Given the description of an element on the screen output the (x, y) to click on. 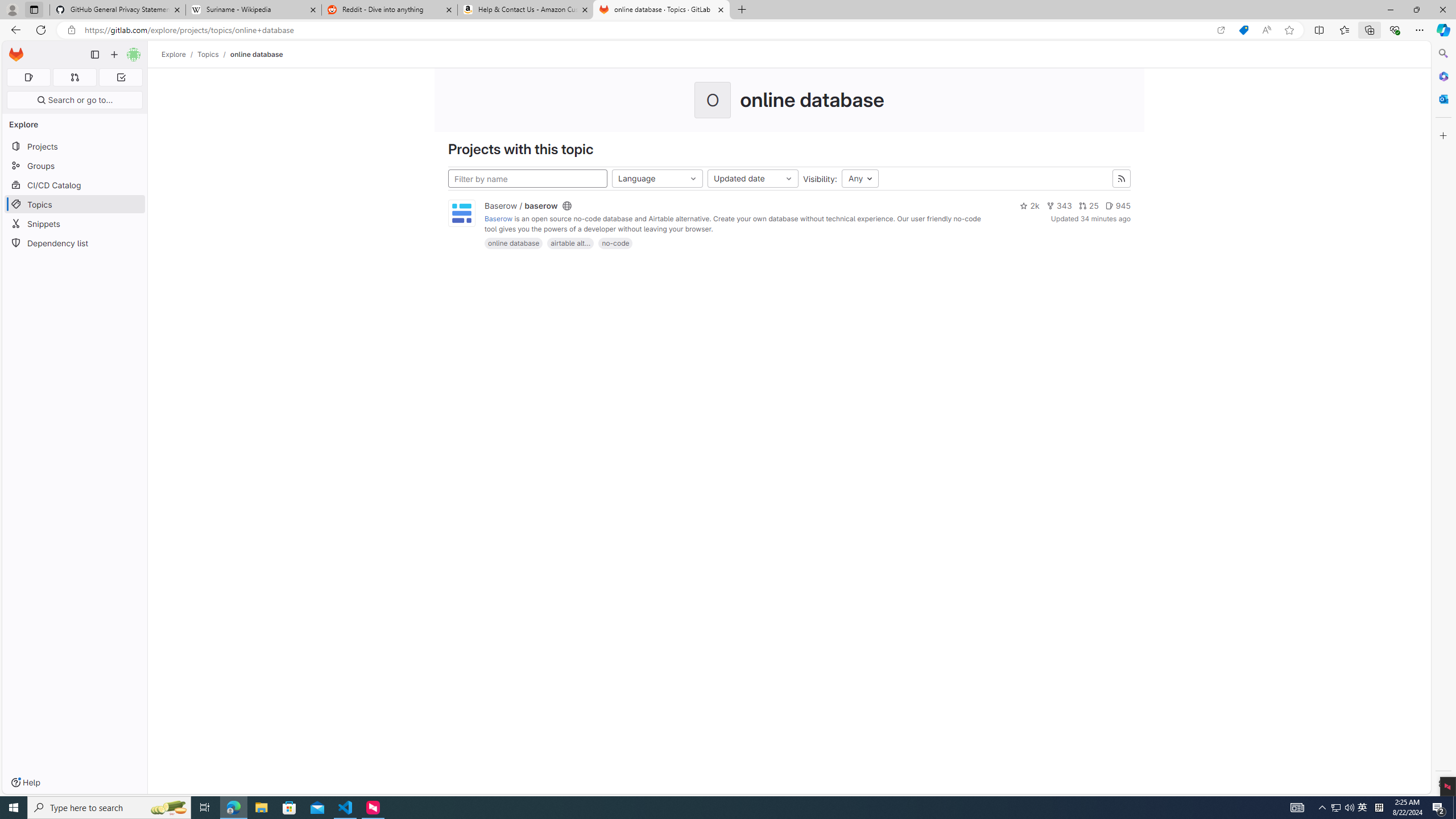
airtable alt... (570, 243)
online database (513, 243)
CI/CD Catalog (74, 185)
Topics (74, 203)
Suriname - Wikipedia (253, 9)
Open in app (1220, 29)
Class: project (462, 213)
2k (1029, 205)
